Given the description of an element on the screen output the (x, y) to click on. 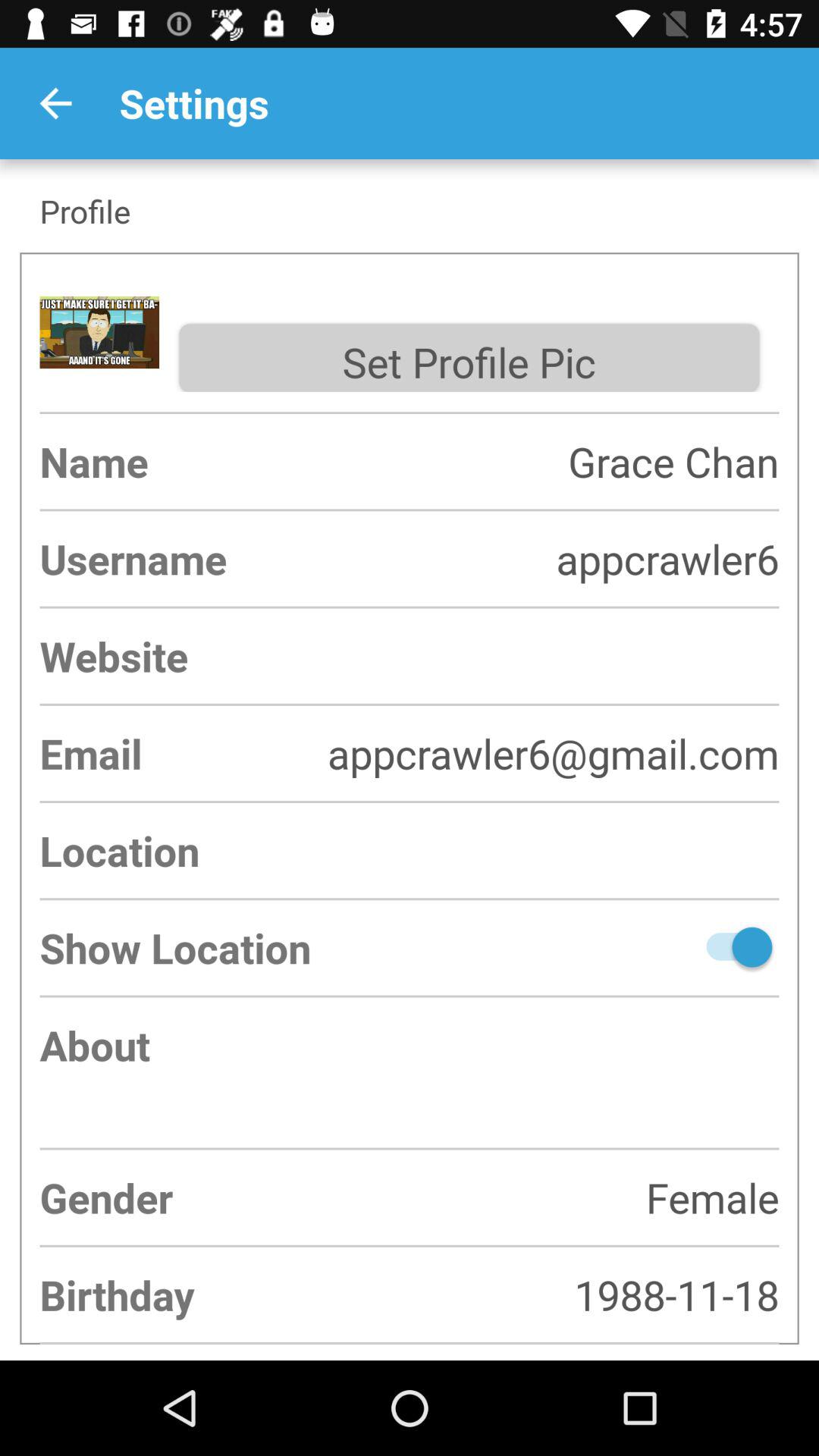
press item next to settings (55, 103)
